Given the description of an element on the screen output the (x, y) to click on. 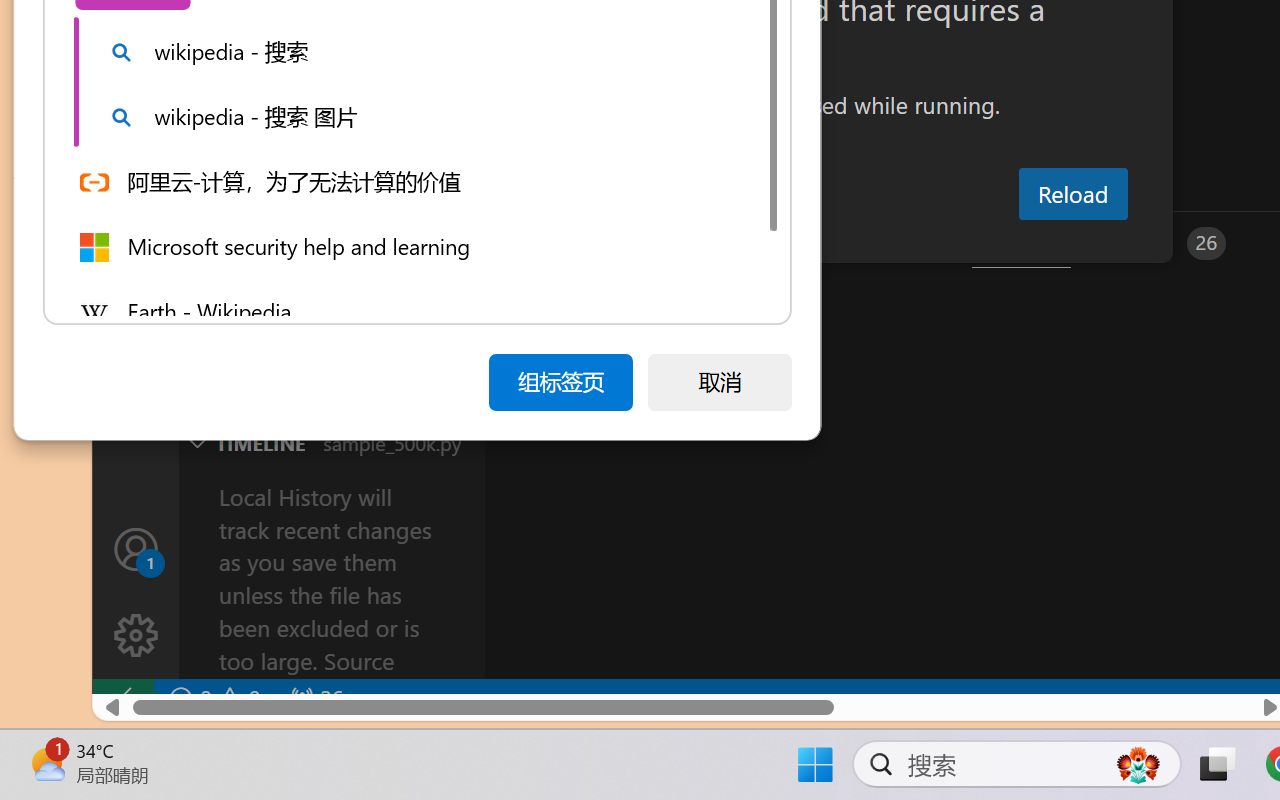
Reload (1071, 193)
remote (122, 698)
Microsoft security help and learning (413, 245)
